Given the description of an element on the screen output the (x, y) to click on. 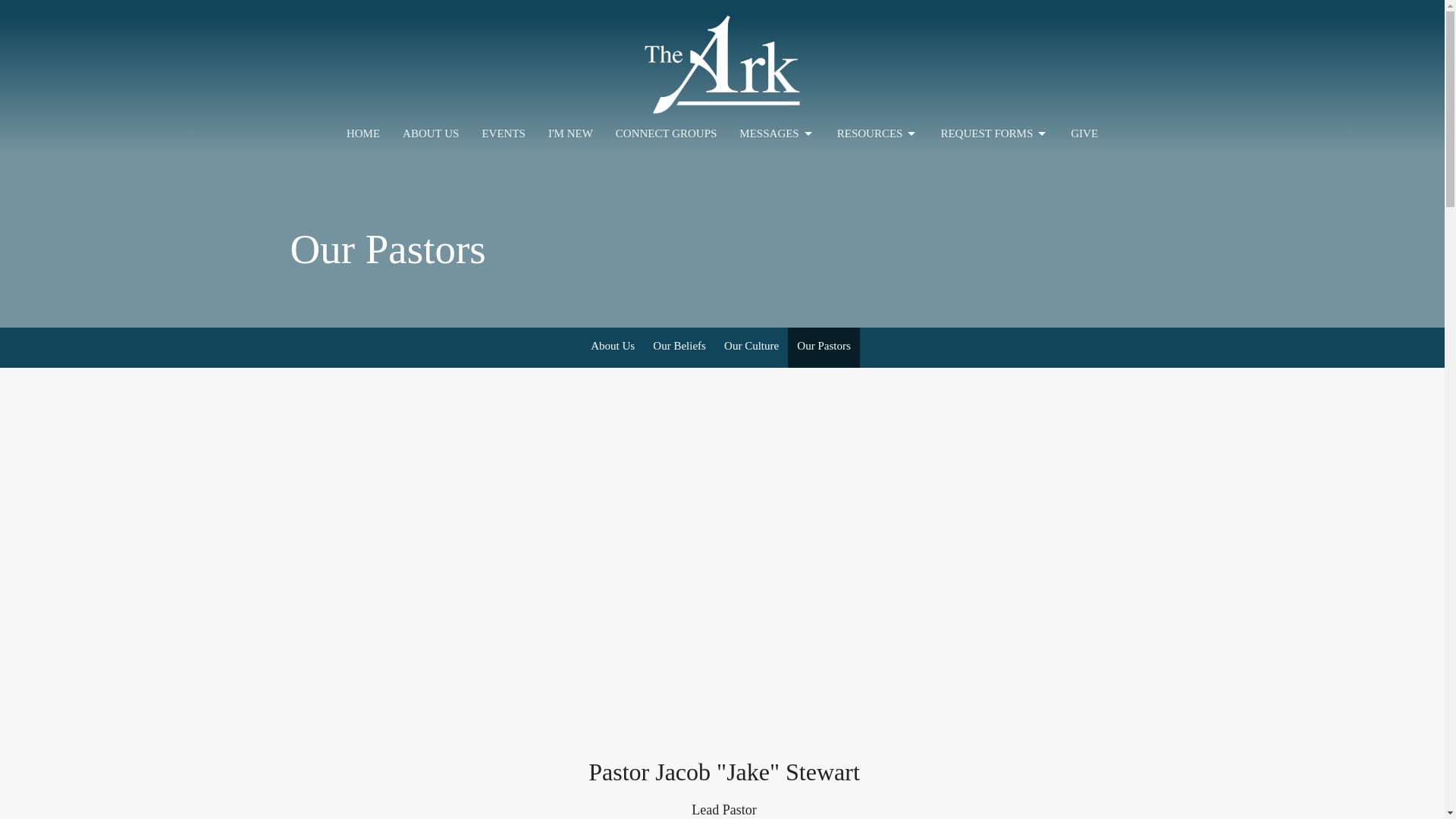
Our Pastors (823, 347)
CONNECT GROUPS (666, 133)
About Us (611, 347)
Our Culture (750, 347)
HOME (363, 133)
Our Beliefs (678, 347)
MESSAGES (776, 133)
GIVE (1083, 133)
REQUEST FORMS (994, 133)
ABOUT US (430, 133)
RESOURCES (877, 133)
I'M NEW (570, 133)
EVENTS (503, 133)
